Given the description of an element on the screen output the (x, y) to click on. 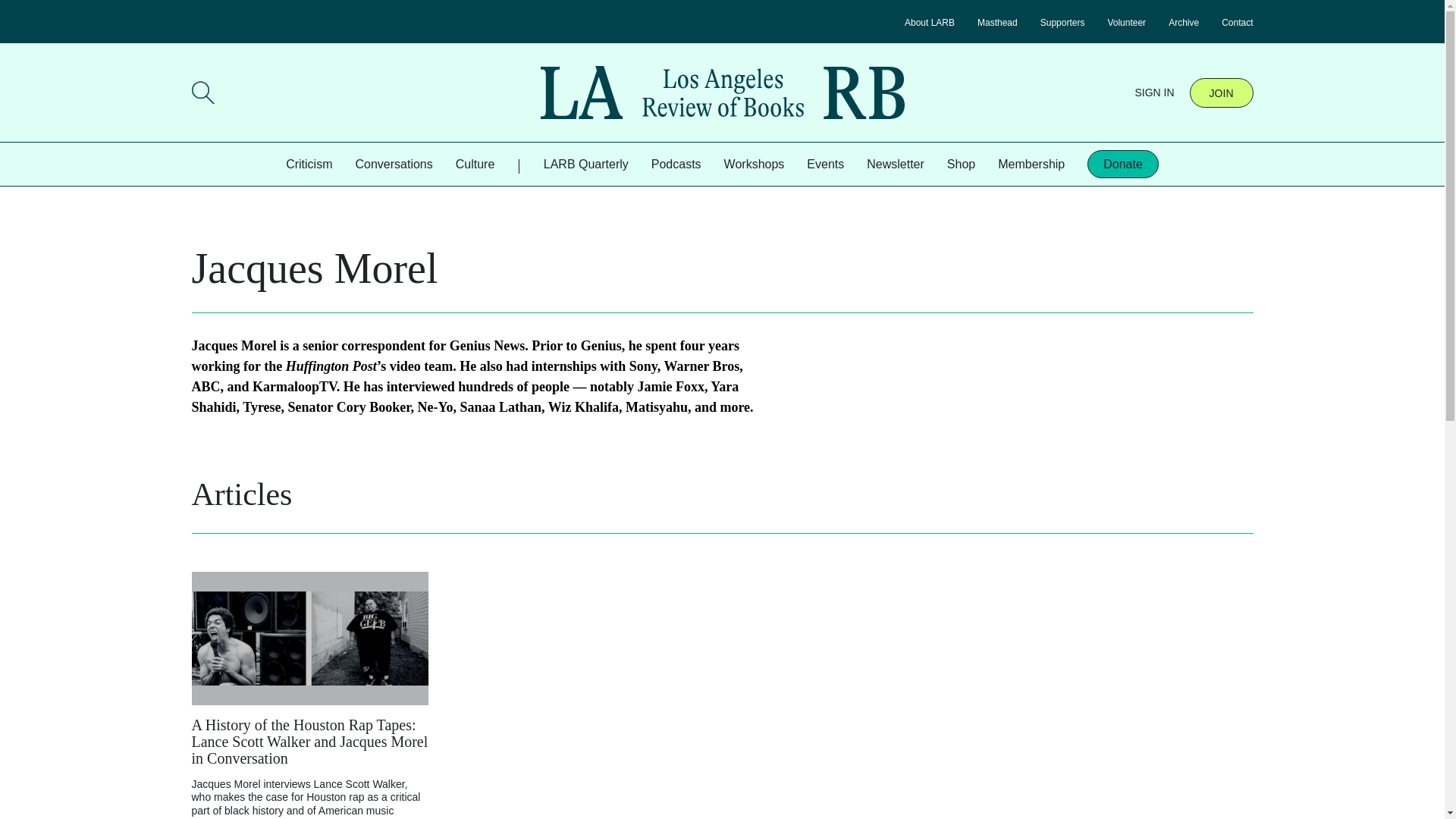
About LARB (929, 22)
Events (825, 163)
Archive (1183, 22)
Membership (1030, 163)
Workshops (753, 163)
Newsletter (895, 163)
Donate (1122, 163)
Podcasts (675, 163)
Volunteer (1125, 22)
SIGN IN (1153, 92)
Supporters (1062, 22)
Shop (961, 163)
JOIN (1221, 91)
Contact (1236, 22)
LARB Quarterly (585, 163)
